Given the description of an element on the screen output the (x, y) to click on. 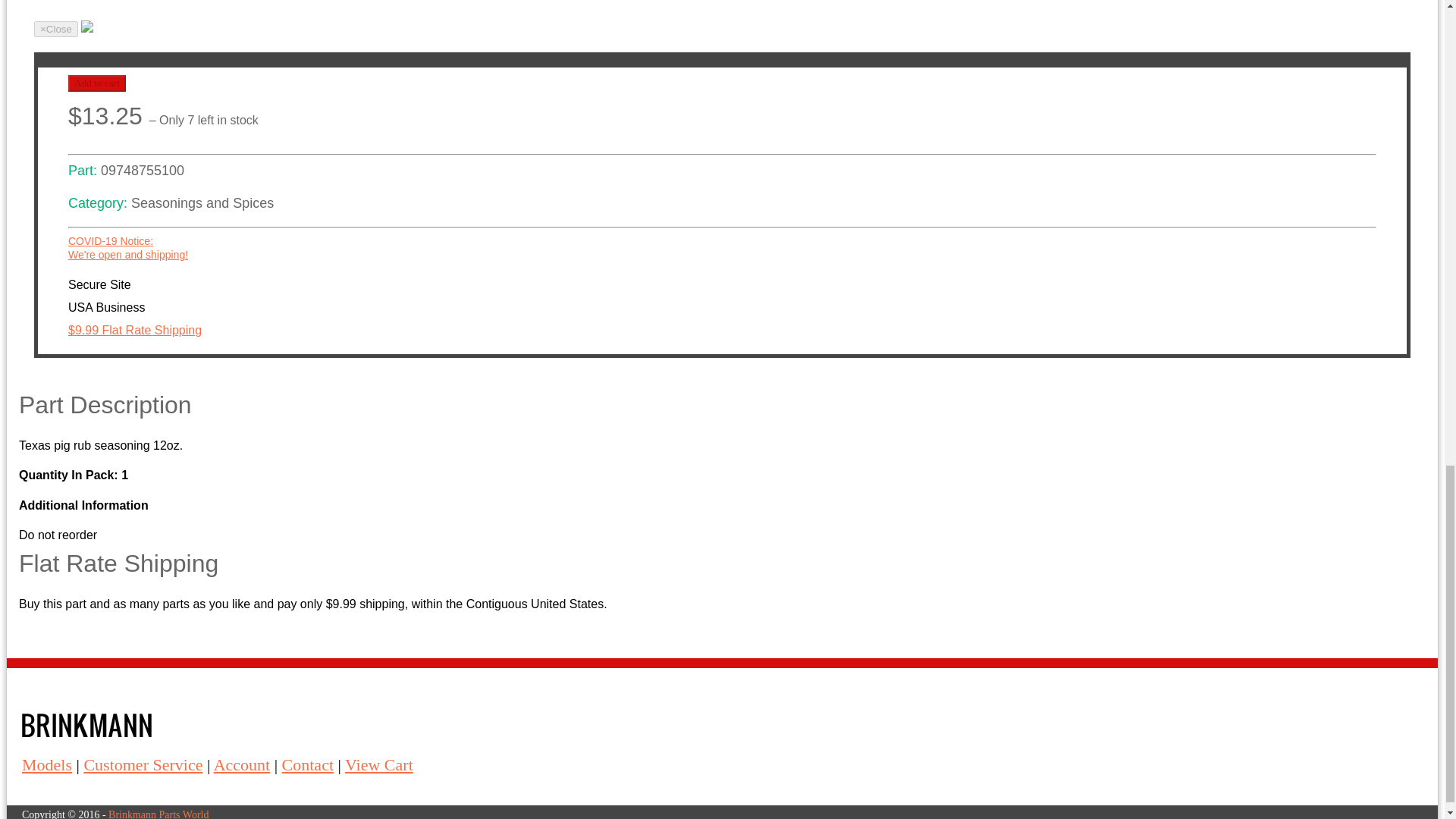
Account (242, 764)
Contact (307, 764)
Add to cart (127, 248)
View Cart (96, 83)
Customer Service (379, 764)
Models (142, 764)
